Given the description of an element on the screen output the (x, y) to click on. 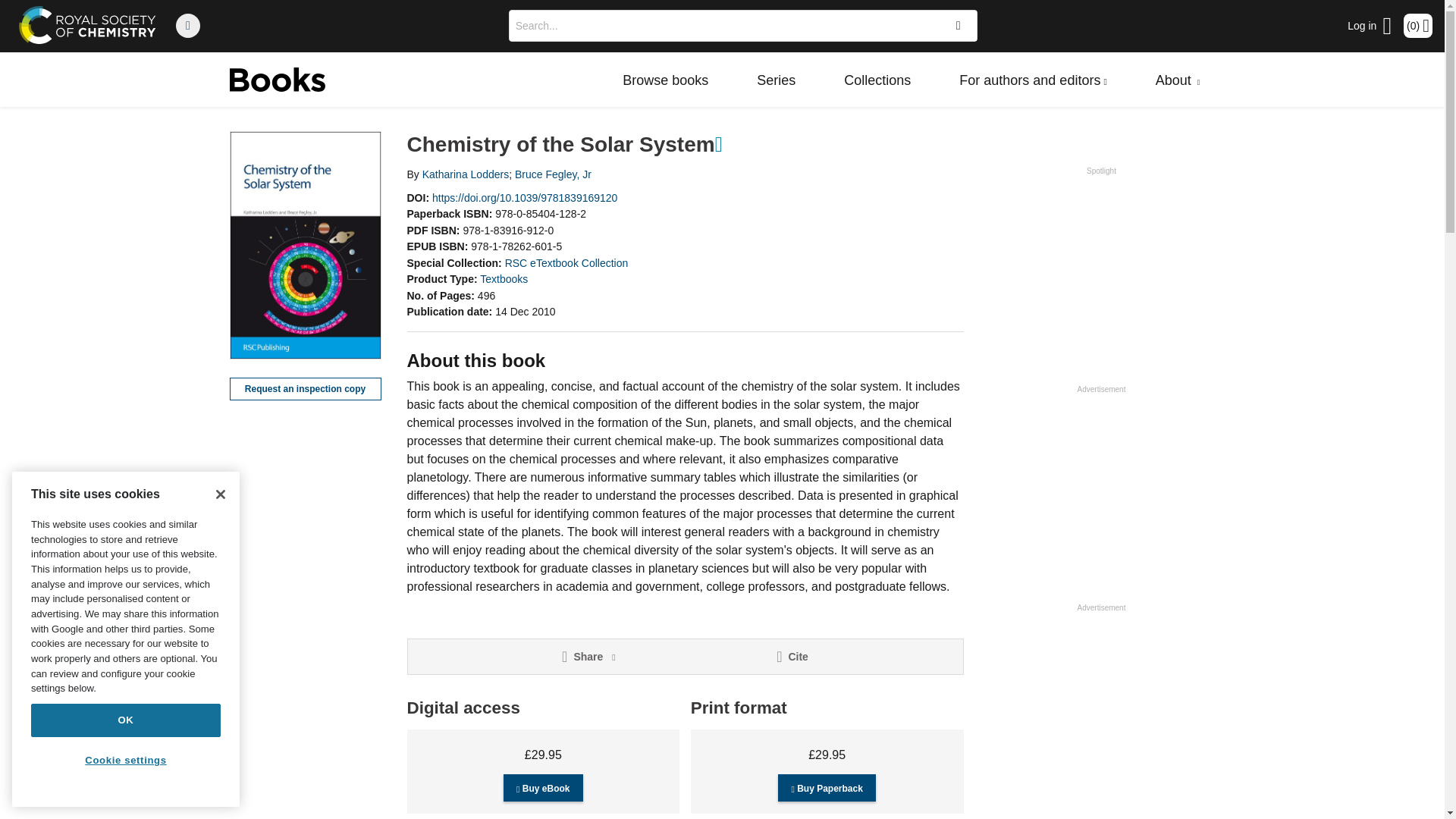
Request an inspection copy (304, 388)
Series (775, 79)
Collections (877, 79)
3rd party ad content (1100, 272)
For authors and editors (1032, 79)
3rd party ad content (1100, 491)
search input (721, 25)
Bruce Fegley, Jr (553, 174)
About (1177, 79)
Browse books (665, 79)
